Given the description of an element on the screen output the (x, y) to click on. 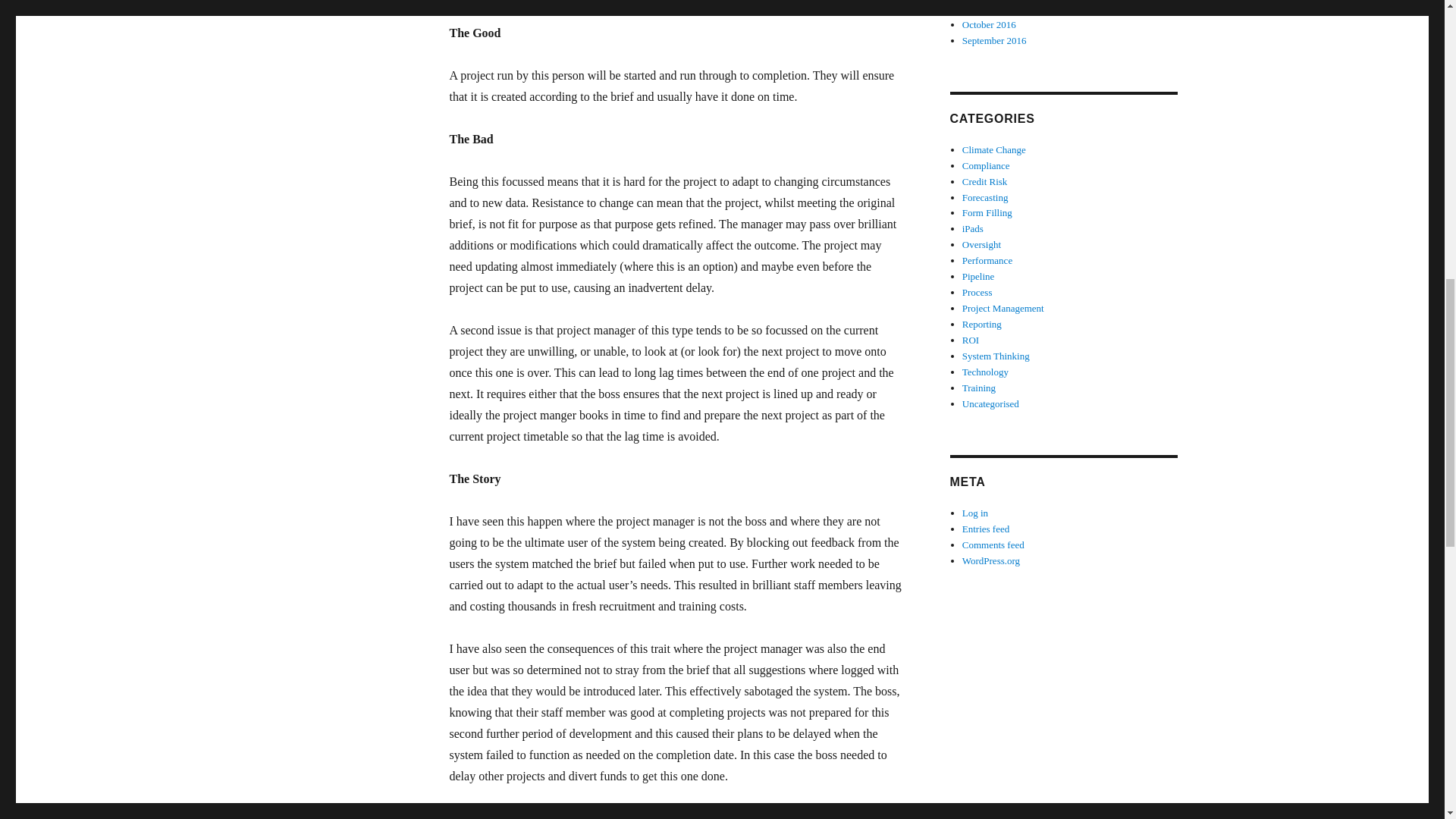
Credit Risk (984, 181)
Climate Change (994, 149)
October 2016 (989, 24)
July 2020 (981, 8)
Compliance (986, 165)
Forecasting (985, 196)
September 2016 (994, 40)
